Given the description of an element on the screen output the (x, y) to click on. 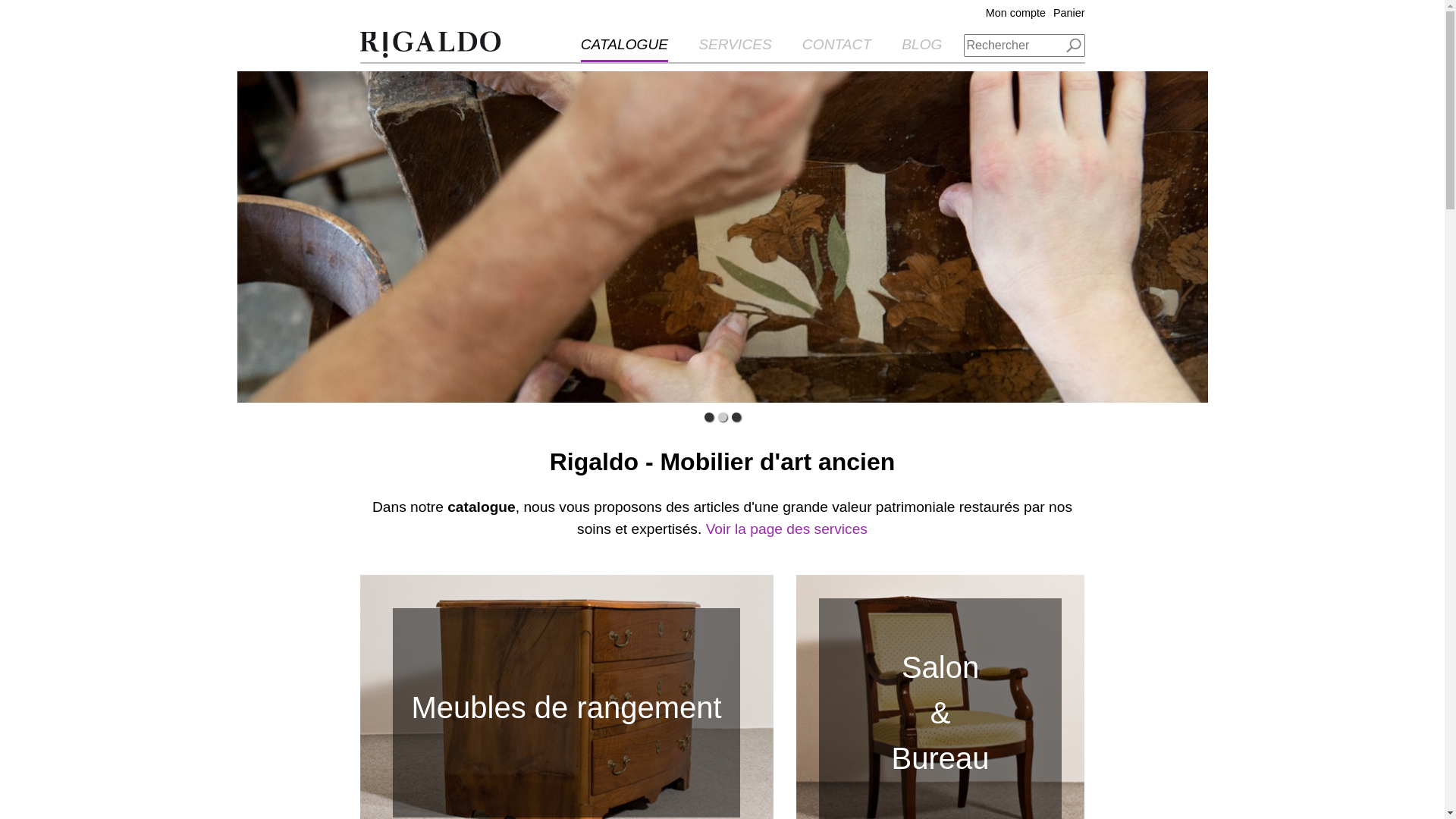
BLOG Element type: text (921, 47)
CATALOGUE Element type: text (624, 49)
Voir la page des services Element type: text (786, 530)
Panier Element type: text (1065, 12)
SERVICES Element type: text (734, 47)
CONTACT Element type: text (836, 47)
Mon compte Element type: text (1011, 12)
